Given the description of an element on the screen output the (x, y) to click on. 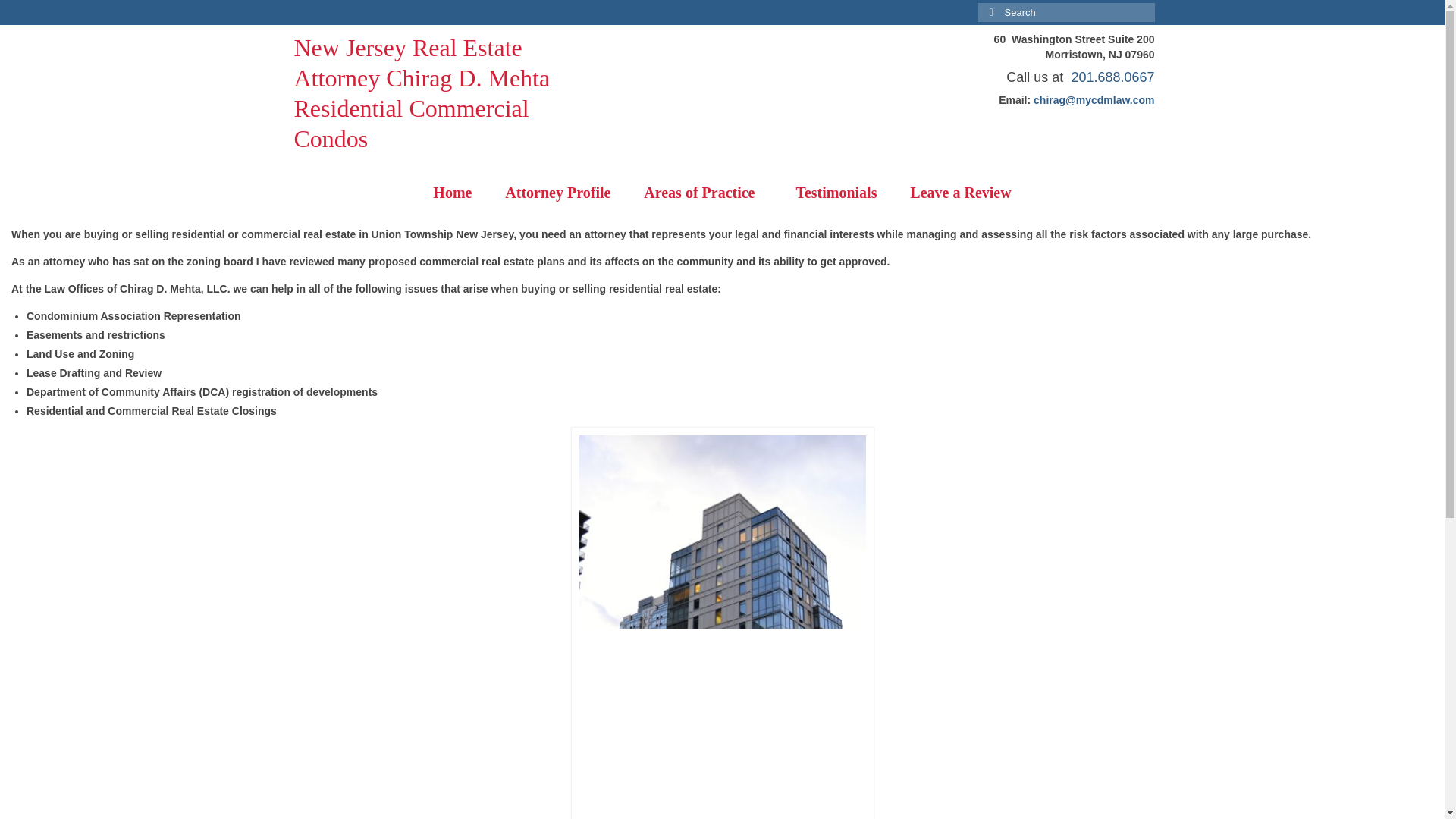
Attorney Profile (557, 192)
Areas of Practice (702, 192)
Leave a Review (960, 192)
Testimonials (835, 192)
Home (451, 192)
201.688.0667 (1112, 77)
